Given the description of an element on the screen output the (x, y) to click on. 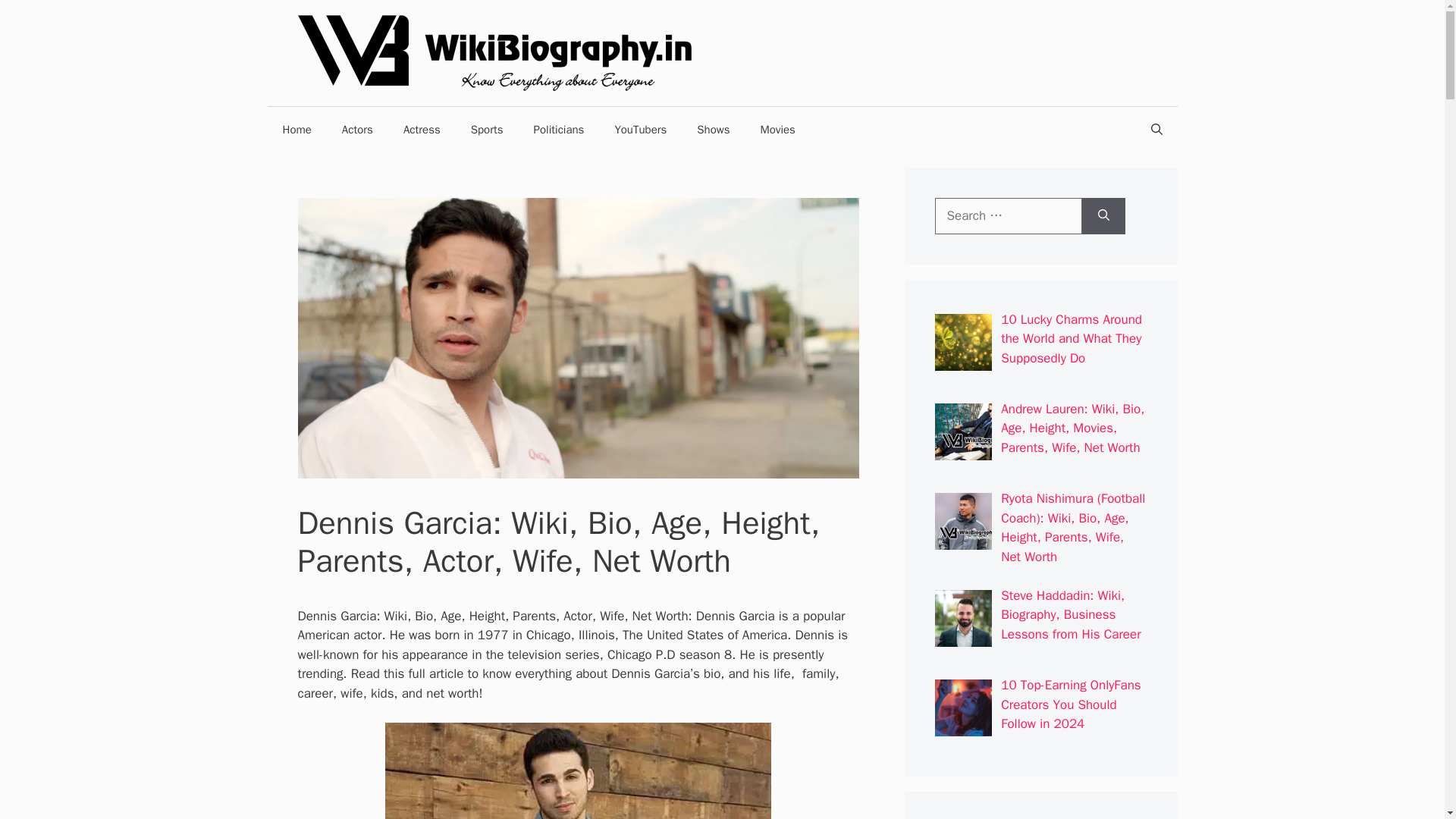
Movies (776, 129)
Actors (357, 129)
Sports (486, 129)
Actress (421, 129)
Politicians (558, 129)
Home (296, 129)
Shows (712, 129)
Search for: (1007, 216)
YouTubers (639, 129)
